Given the description of an element on the screen output the (x, y) to click on. 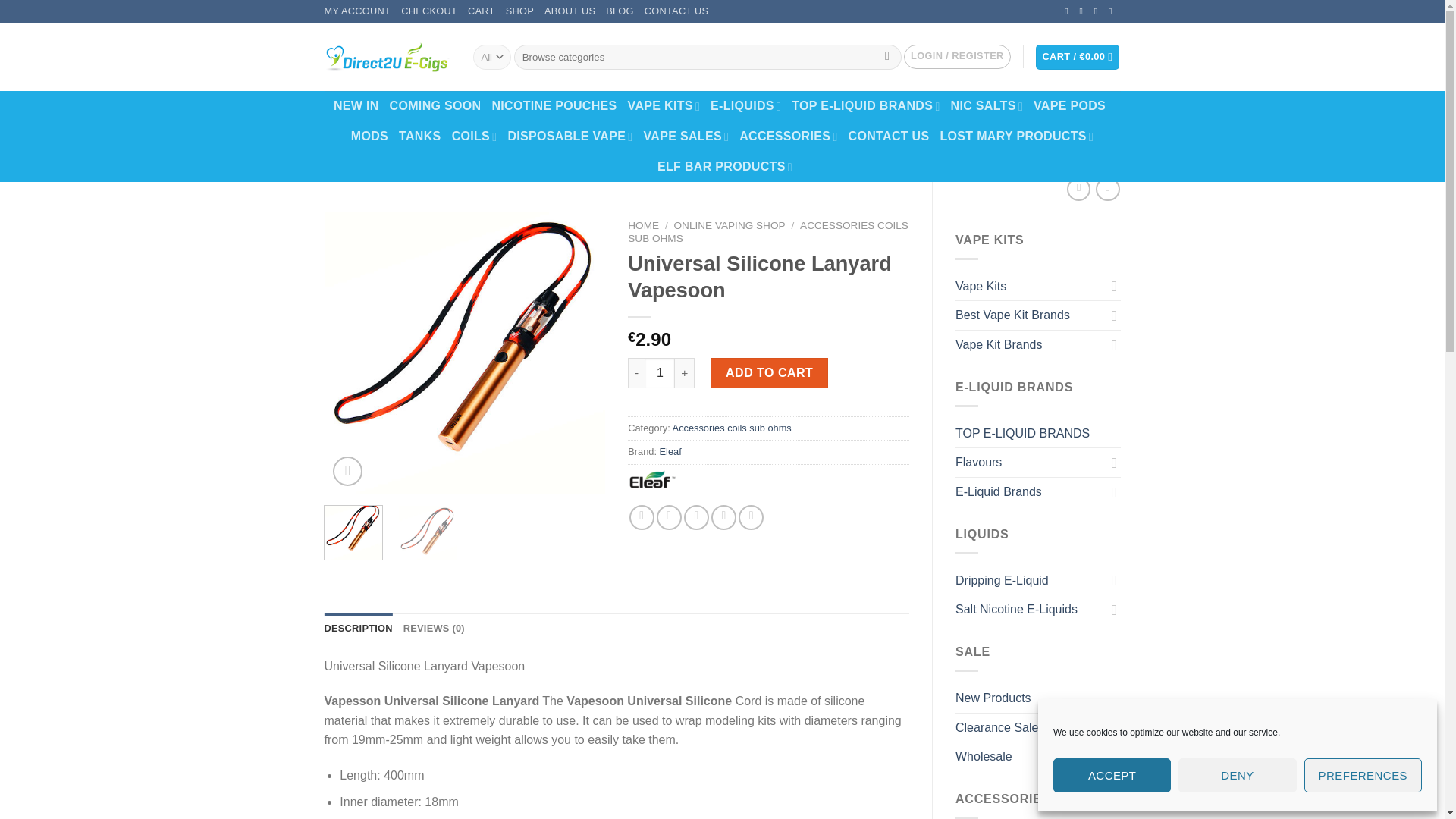
Qty (660, 372)
CONTACT US (677, 11)
NEW IN (355, 105)
DENY (1236, 775)
ACCEPT (1111, 775)
Direct2U (386, 56)
BLOG (619, 11)
CHECKOUT (429, 11)
COMING SOON (435, 105)
Search (887, 57)
MY ACCOUNT (357, 11)
Cart (1077, 57)
PREFERENCES (1363, 775)
Vapesoon-Universal-Silicone-Lanyard-.jpg (464, 352)
CART (481, 11)
